Given the description of an element on the screen output the (x, y) to click on. 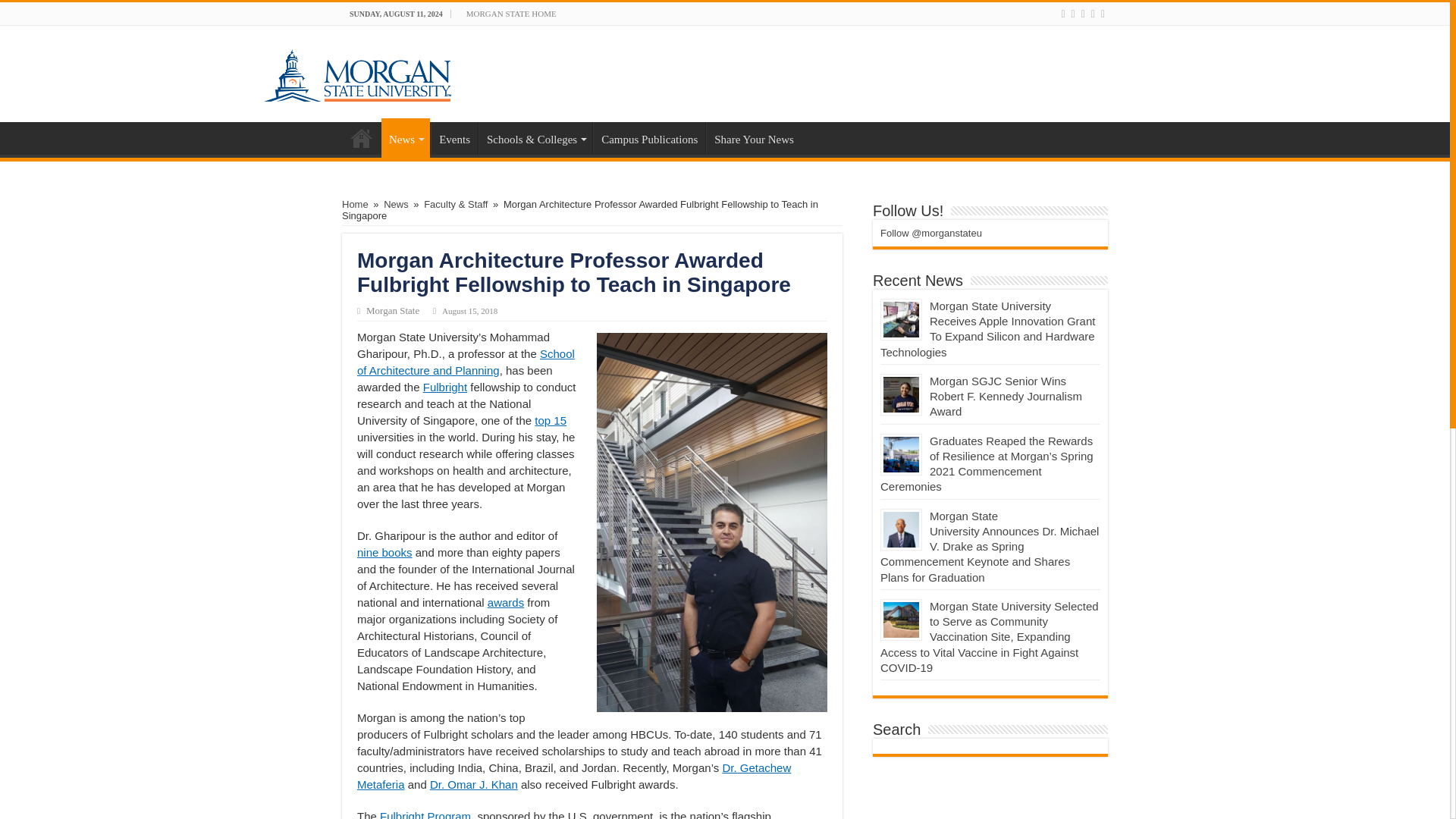
News (405, 137)
MORGAN STATE HOME (511, 13)
Home (361, 137)
Morgan State University Newsroom (356, 71)
